Given the description of an element on the screen output the (x, y) to click on. 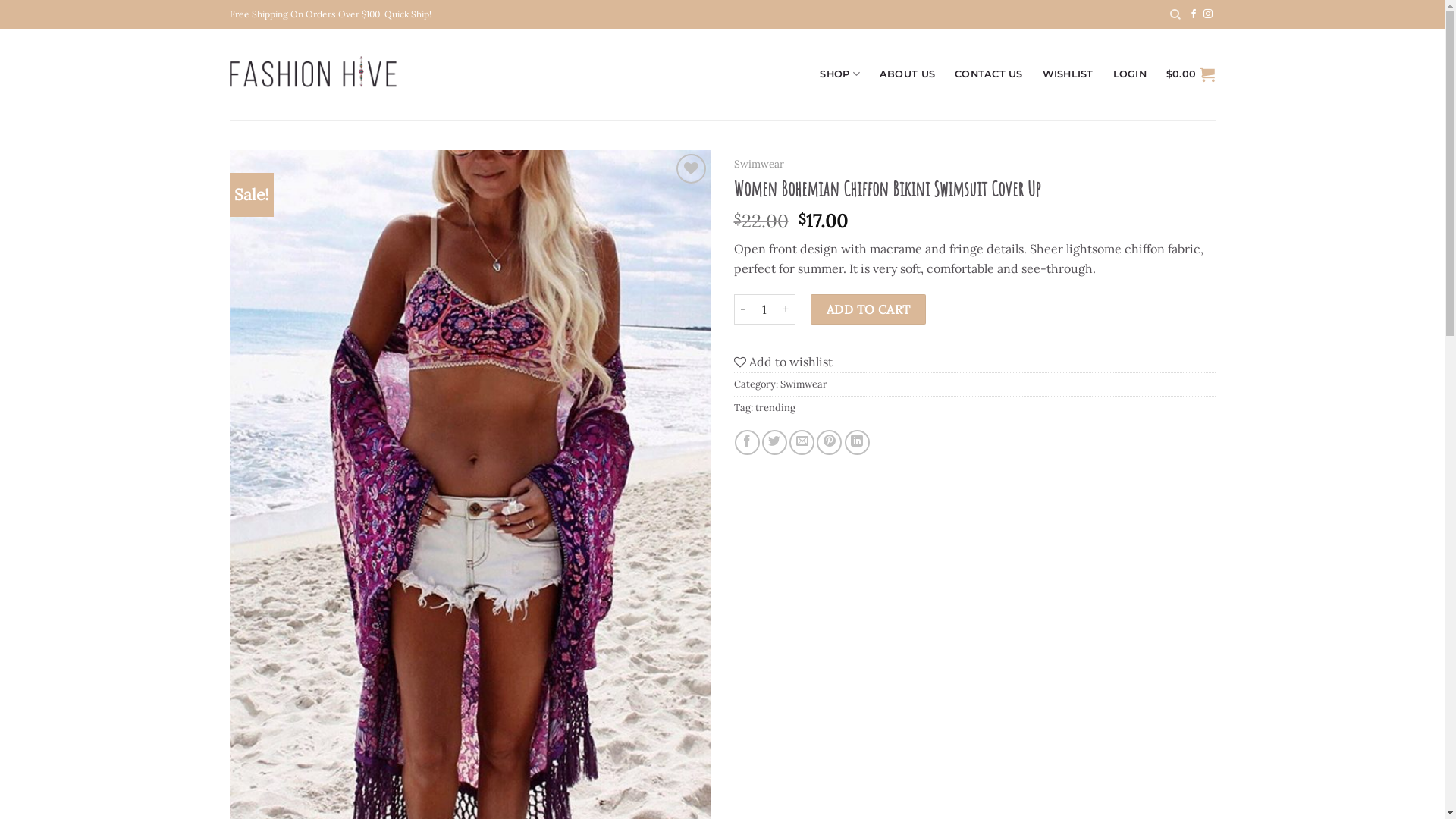
Swimwear Element type: text (759, 163)
Qty Element type: hover (764, 309)
WISHLIST Element type: text (1067, 73)
Swimwear Element type: text (802, 383)
LOGIN Element type: text (1129, 73)
trending Element type: text (775, 407)
ABOUT US Element type: text (907, 73)
Add to wishlist Element type: text (783, 361)
$0.00 Element type: text (1190, 74)
CONTACT US Element type: text (988, 73)
ADD TO CART Element type: text (867, 309)
SHOP Element type: text (839, 73)
